Given the description of an element on the screen output the (x, y) to click on. 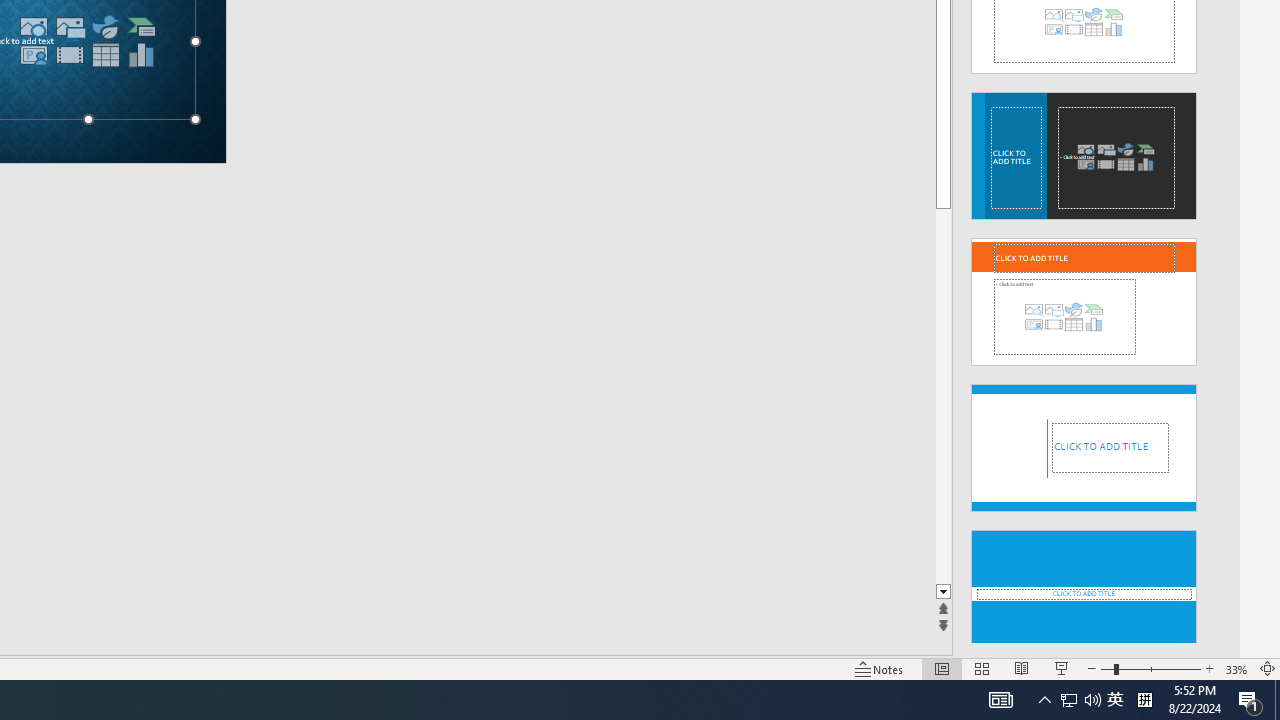
Insert Chart (141, 55)
Pictures (69, 26)
Design Idea (1083, 587)
